Given the description of an element on the screen output the (x, y) to click on. 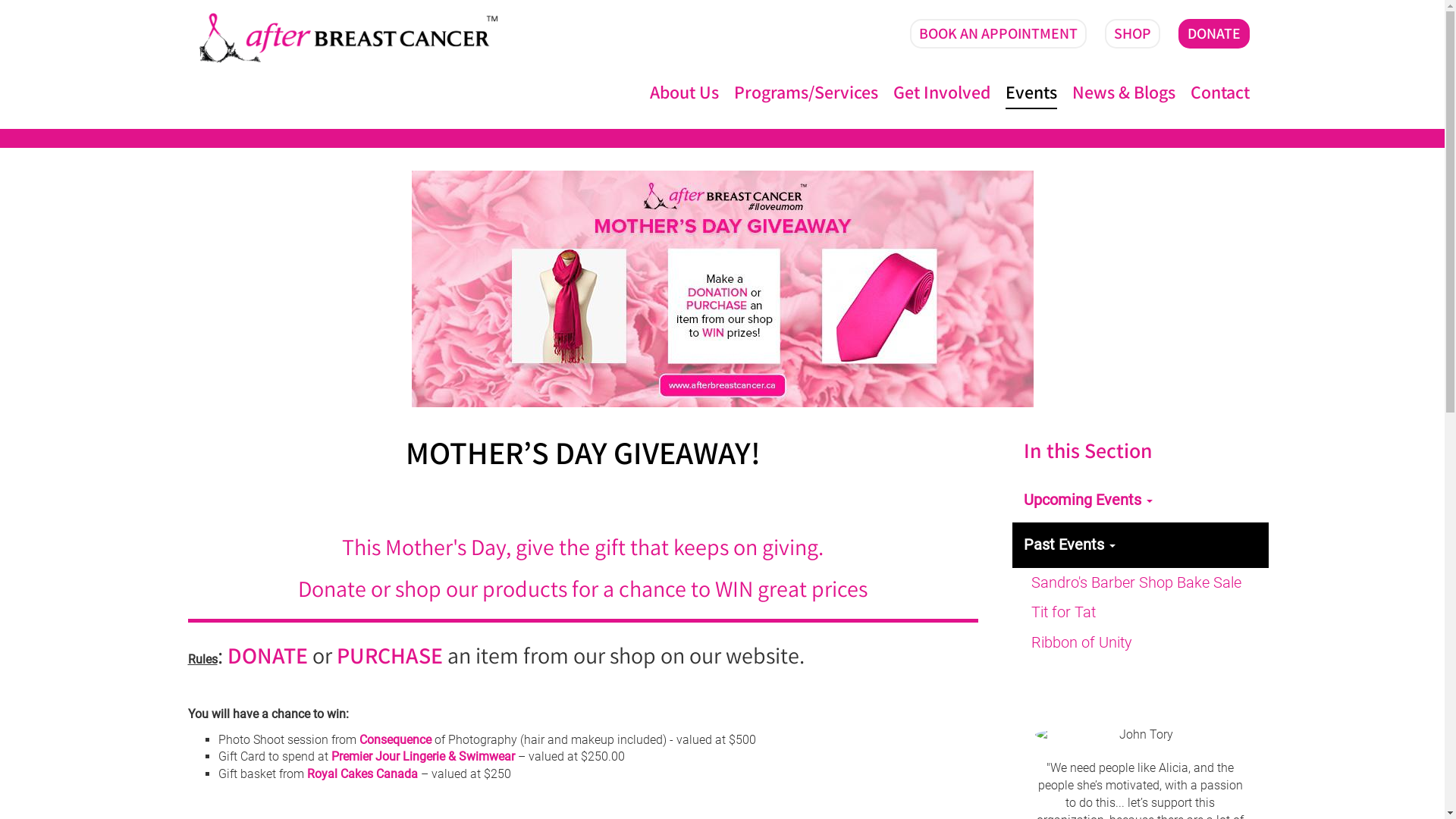
Premier Jour Lingerie & Swimwear Element type: text (422, 756)
Events Element type: text (1031, 92)
Contact Element type: text (1219, 92)
Tit for Tat Element type: text (1140, 612)
Royal Cakes Canada Element type: text (361, 773)
DONATE Element type: text (1213, 33)
Consequence Element type: text (395, 739)
Programs/Services Element type: text (806, 92)
Sandro's Barber Shop Bake Sale Element type: text (1140, 582)
PURCHASE Element type: text (389, 659)
DONATE Element type: text (267, 659)
BOOK AN APPOINTMENT Element type: text (998, 33)
SHOP Element type: text (1131, 33)
News & Blogs Element type: text (1123, 92)
About Us Element type: text (683, 92)
Ribbon of Unity Element type: text (1140, 642)
Past Events  Element type: text (1140, 544)
Get Involved Element type: text (941, 92)
Upcoming Events  Element type: text (1140, 500)
